Given the description of an element on the screen output the (x, y) to click on. 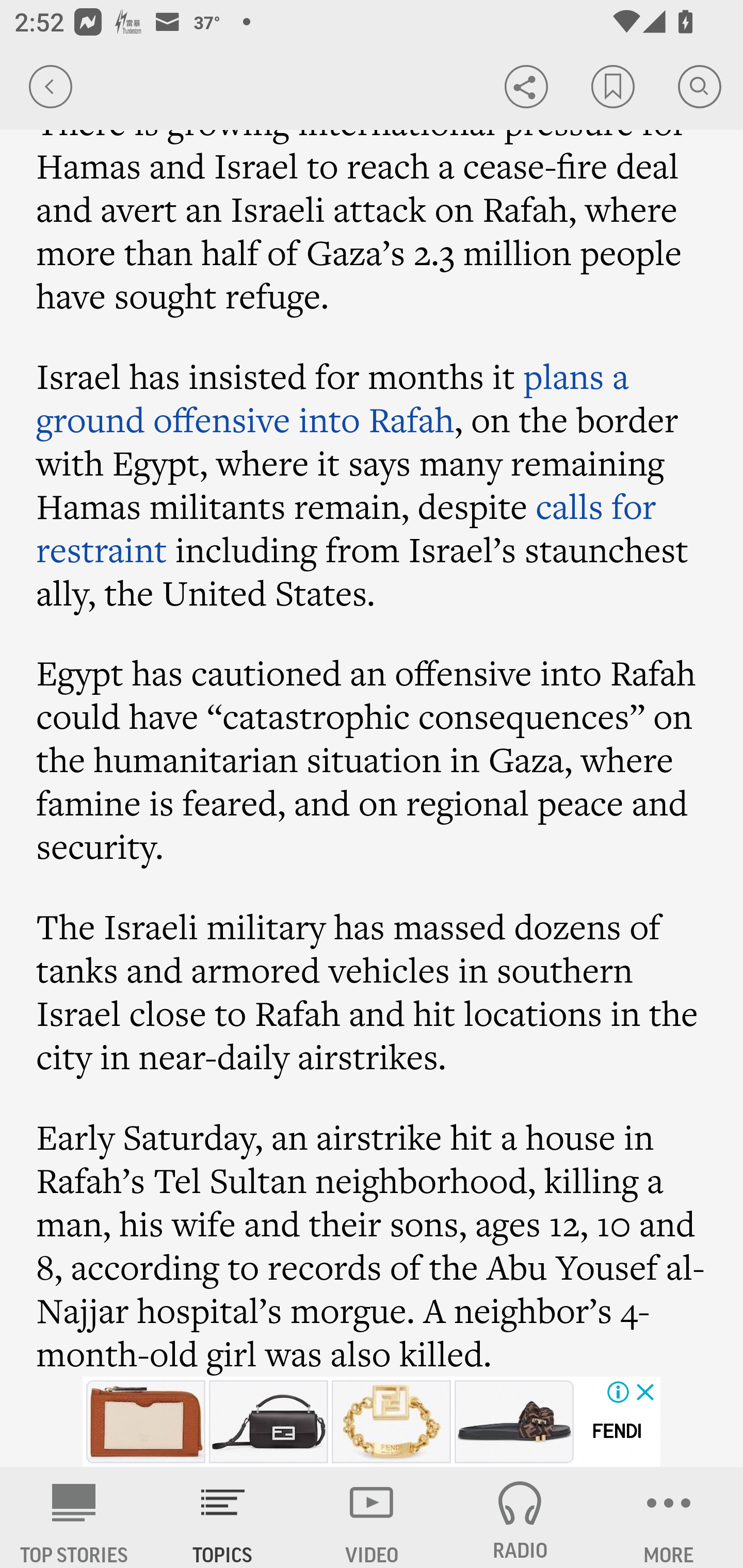
plans a ground offensive into Rafah (333, 397)
calls for restraint (346, 526)
fendi-feel-brown-satin-slides-8x8142ae7sf0r7v (513, 1420)
AP News TOP STORIES (74, 1517)
TOPICS (222, 1517)
VIDEO (371, 1517)
RADIO (519, 1517)
MORE (668, 1517)
